Given the description of an element on the screen output the (x, y) to click on. 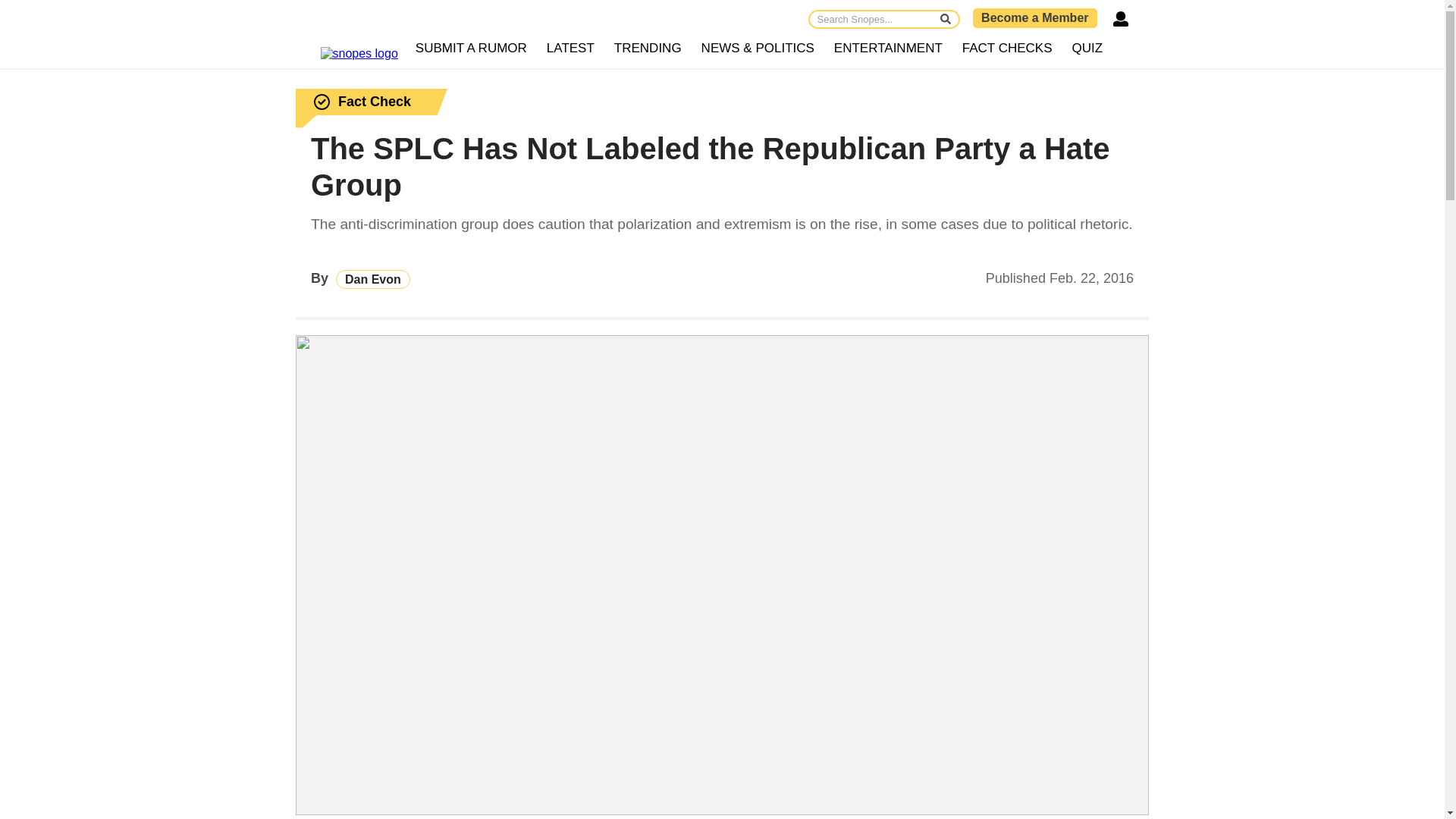
SUBMIT A RUMOR (471, 47)
LATEST (570, 47)
Dan Evon (373, 279)
FACT CHECKS (1007, 47)
QUIZ (1087, 47)
TRENDING (647, 47)
ENTERTAINMENT (887, 47)
Become a Member (1034, 17)
